Given the description of an element on the screen output the (x, y) to click on. 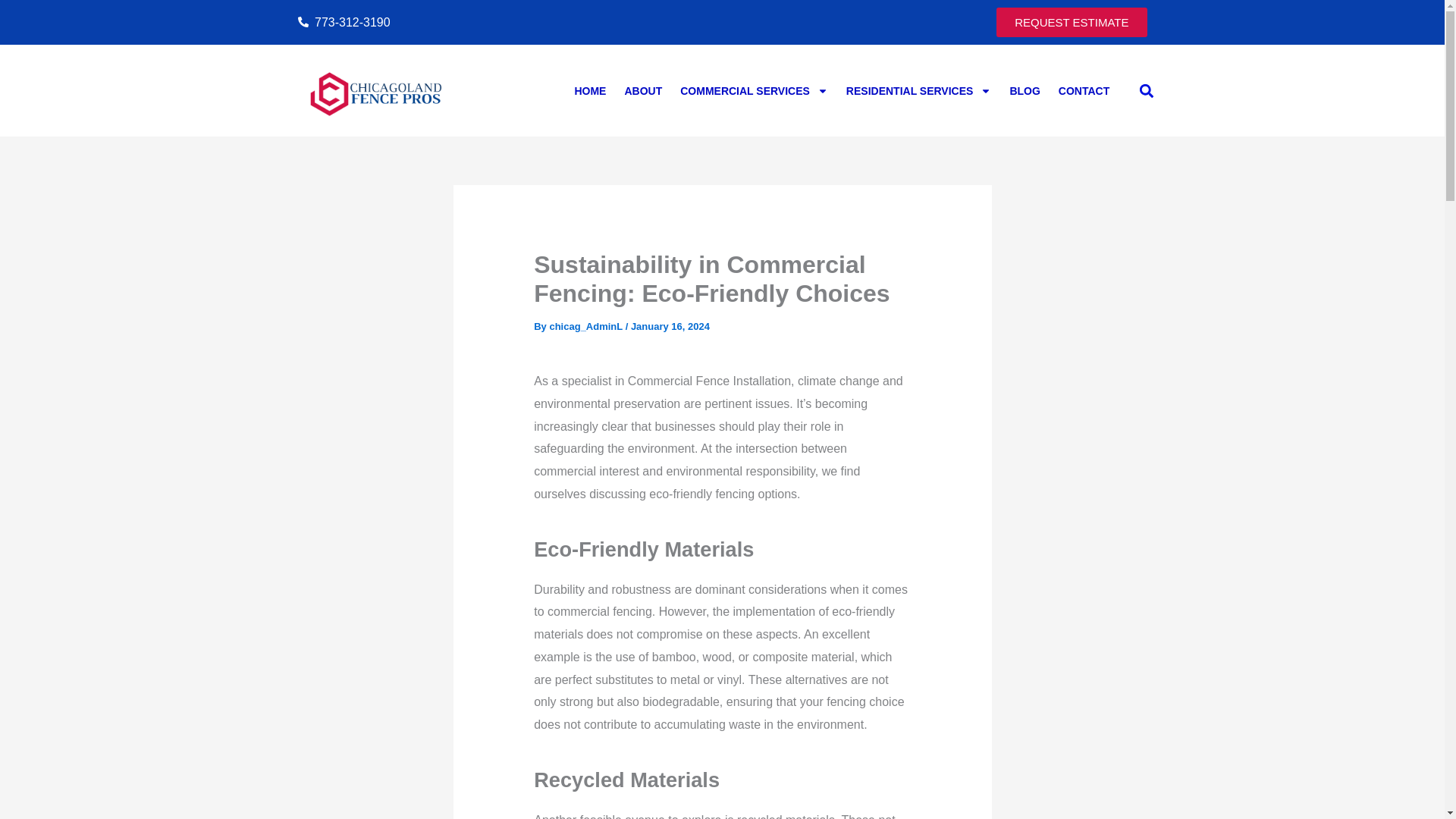
HOME (589, 90)
REQUEST ESTIMATE (1071, 21)
CONTACT (1083, 90)
ABOUT (642, 90)
773-312-3190 (505, 22)
COMMERCIAL SERVICES (754, 90)
BLOG (1024, 90)
RESIDENTIAL SERVICES (919, 90)
